Given the description of an element on the screen output the (x, y) to click on. 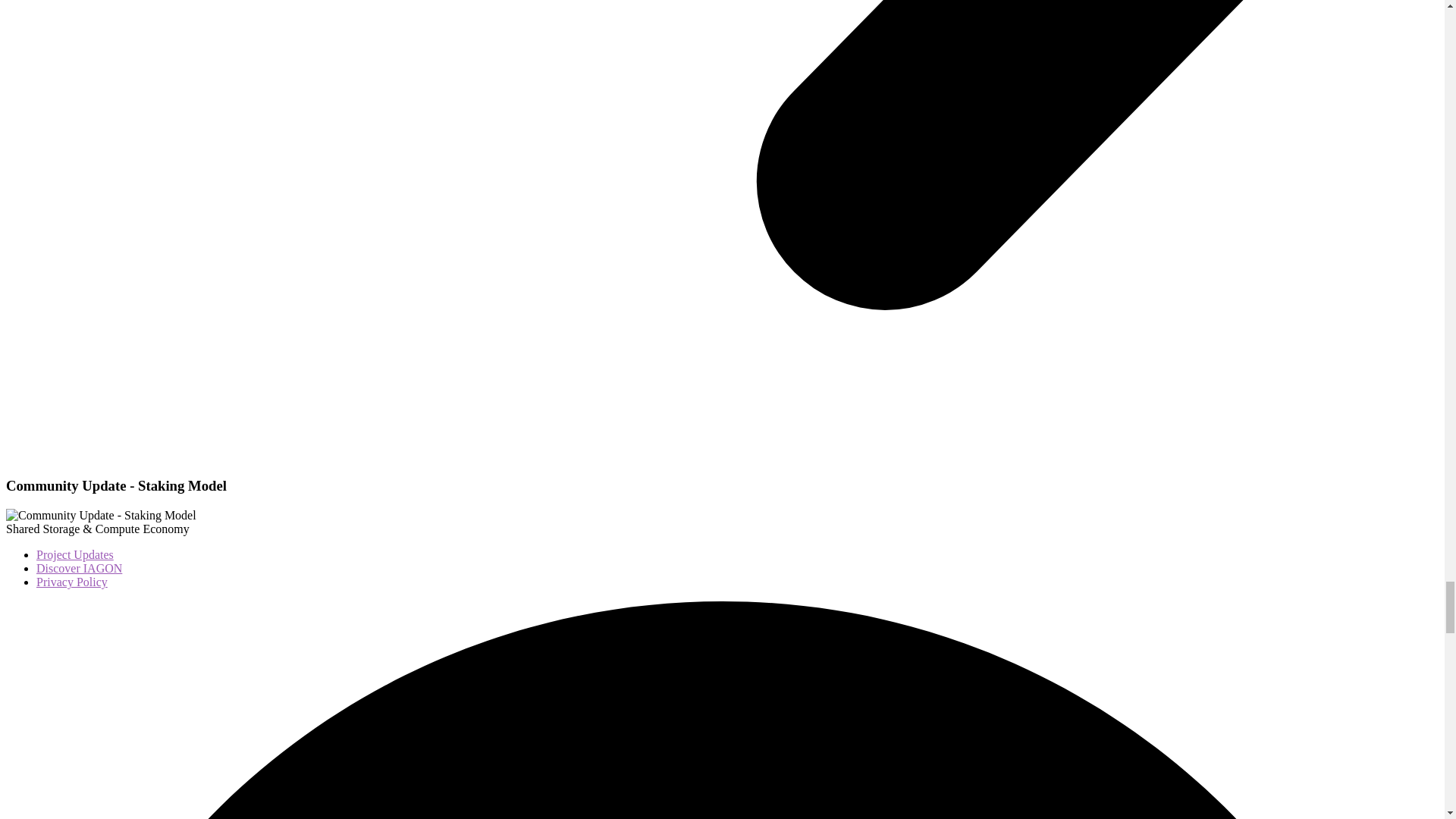
Discover IAGON (79, 567)
Privacy Policy (71, 581)
Project Updates (74, 554)
